Given the description of an element on the screen output the (x, y) to click on. 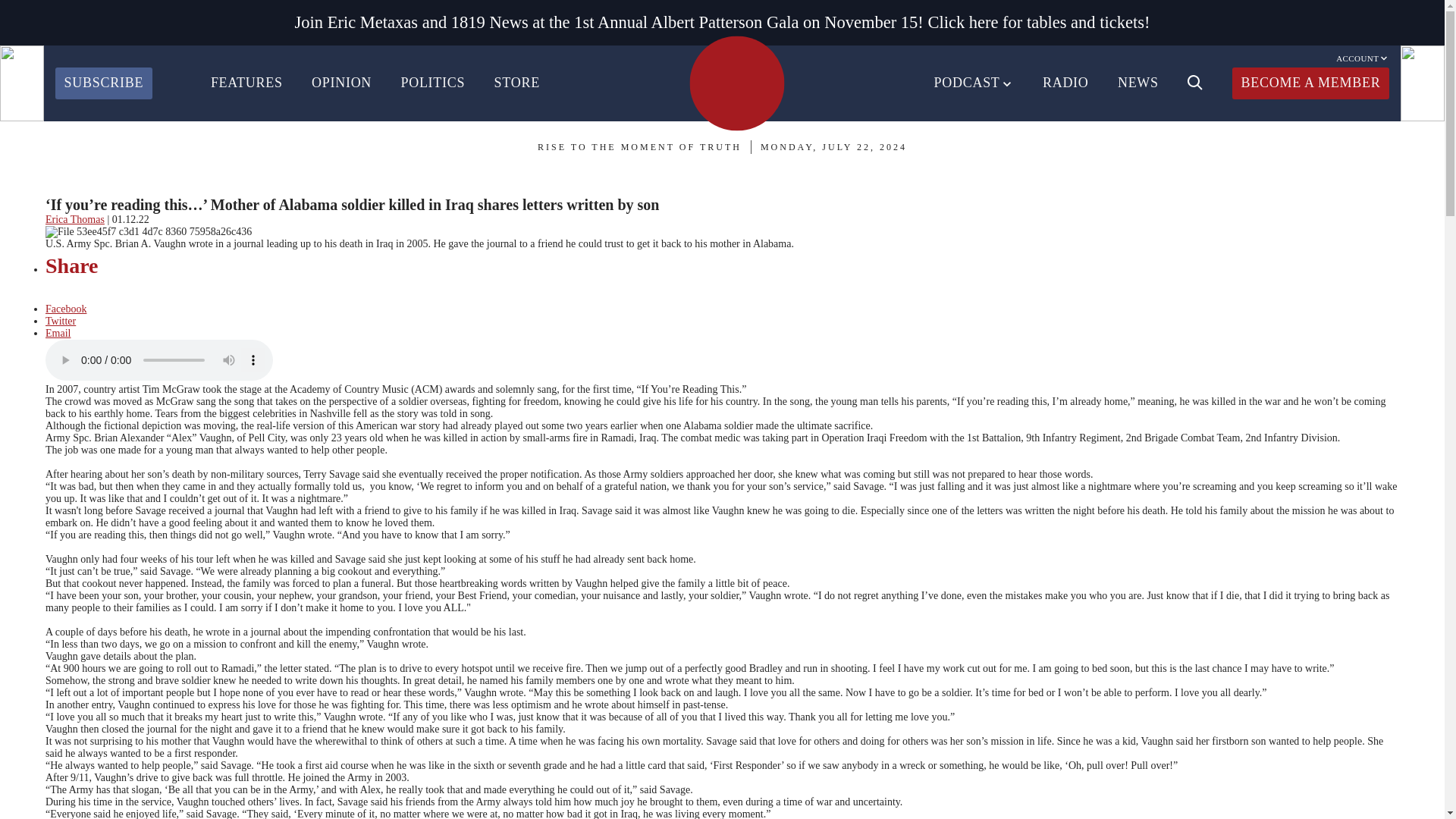
RADIO (1065, 83)
FEATURES (246, 83)
HOMEPAGE (736, 83)
NEWS (1138, 83)
Facebook (65, 308)
Erica Thomas (74, 219)
Features (72, 186)
PODCAST (973, 83)
SUBSCRIBE (103, 83)
POLITICS (432, 83)
BECOME A MEMBER (1310, 83)
OPINION (341, 83)
STORE (517, 83)
